Given the description of an element on the screen output the (x, y) to click on. 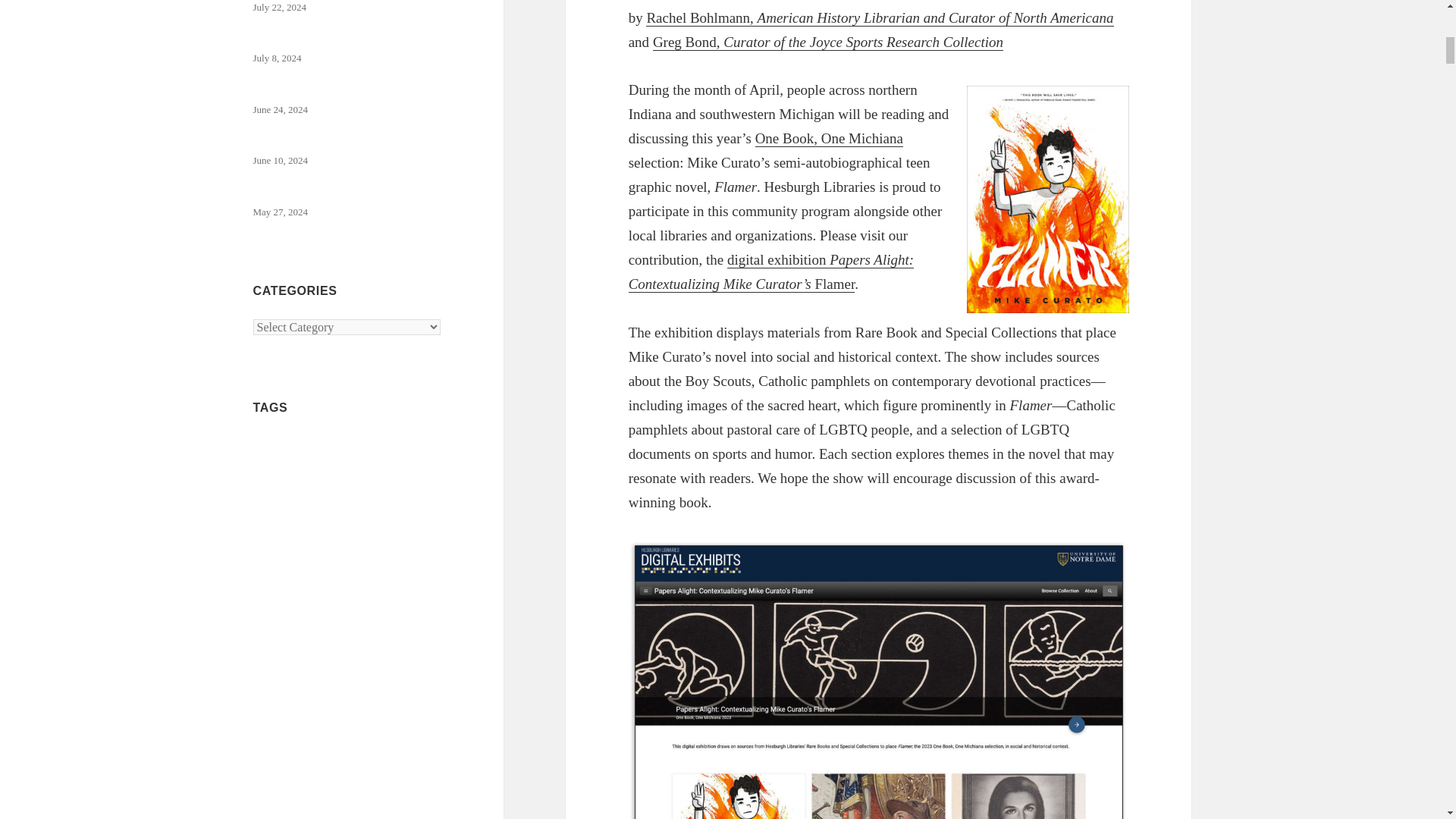
periodicals (376, 705)
Argentina (419, 447)
baseball (299, 476)
manuscripts (355, 619)
pamphlets (304, 705)
African American history (325, 445)
news (416, 648)
natural history (366, 653)
maps (422, 622)
facsimiles (277, 595)
A Closer Look at a Glossed Bible Leaf (334, 31)
Mexico (274, 650)
drawing (363, 576)
books (356, 472)
